Given the description of an element on the screen output the (x, y) to click on. 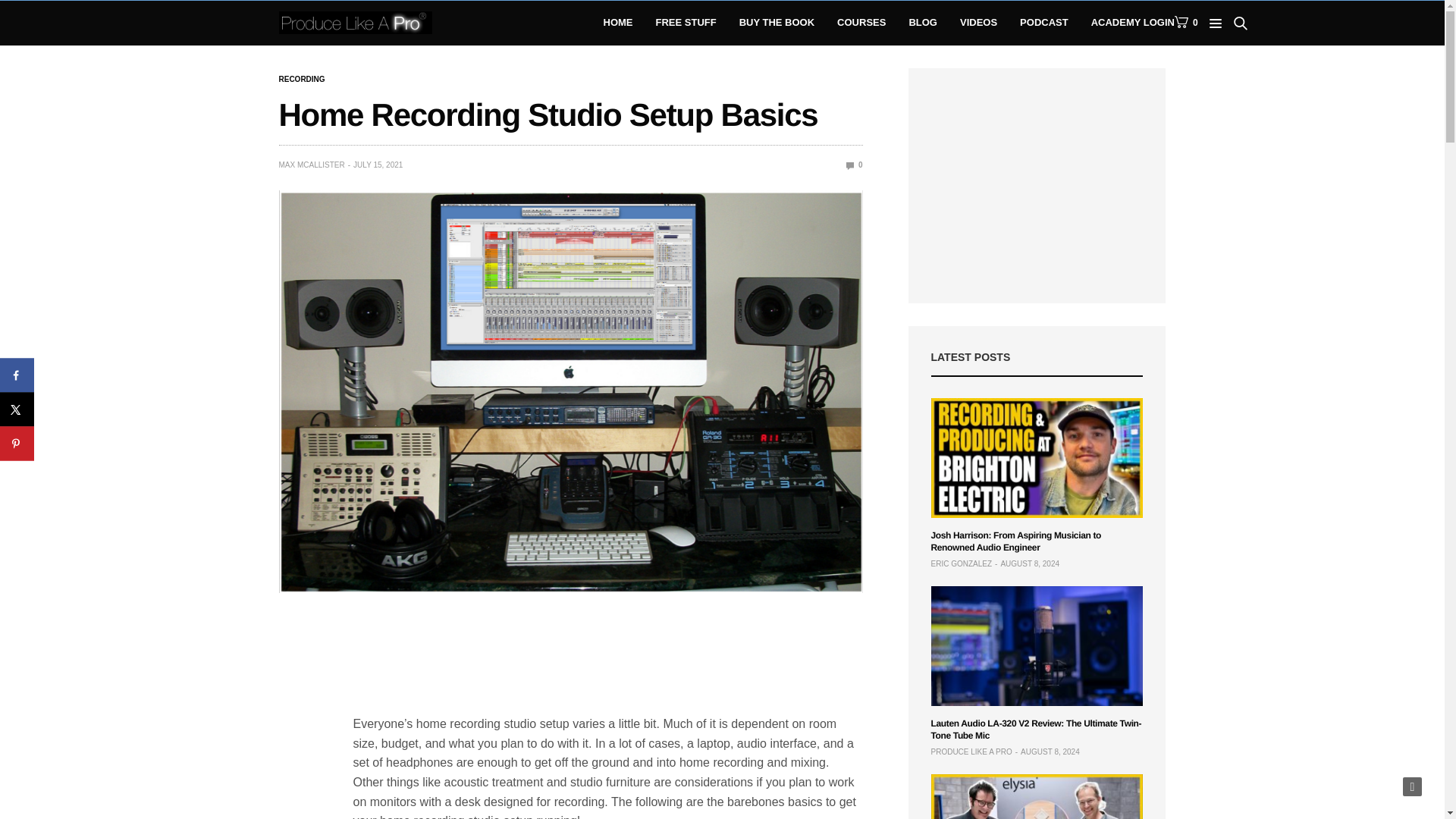
HOME (618, 23)
3rd party ad content (608, 657)
Search (1218, 66)
Recording (301, 79)
3rd party ad content (1044, 185)
ACADEMY LOGIN (1132, 23)
RECORDING (301, 79)
BLOG (922, 23)
